Given the description of an element on the screen output the (x, y) to click on. 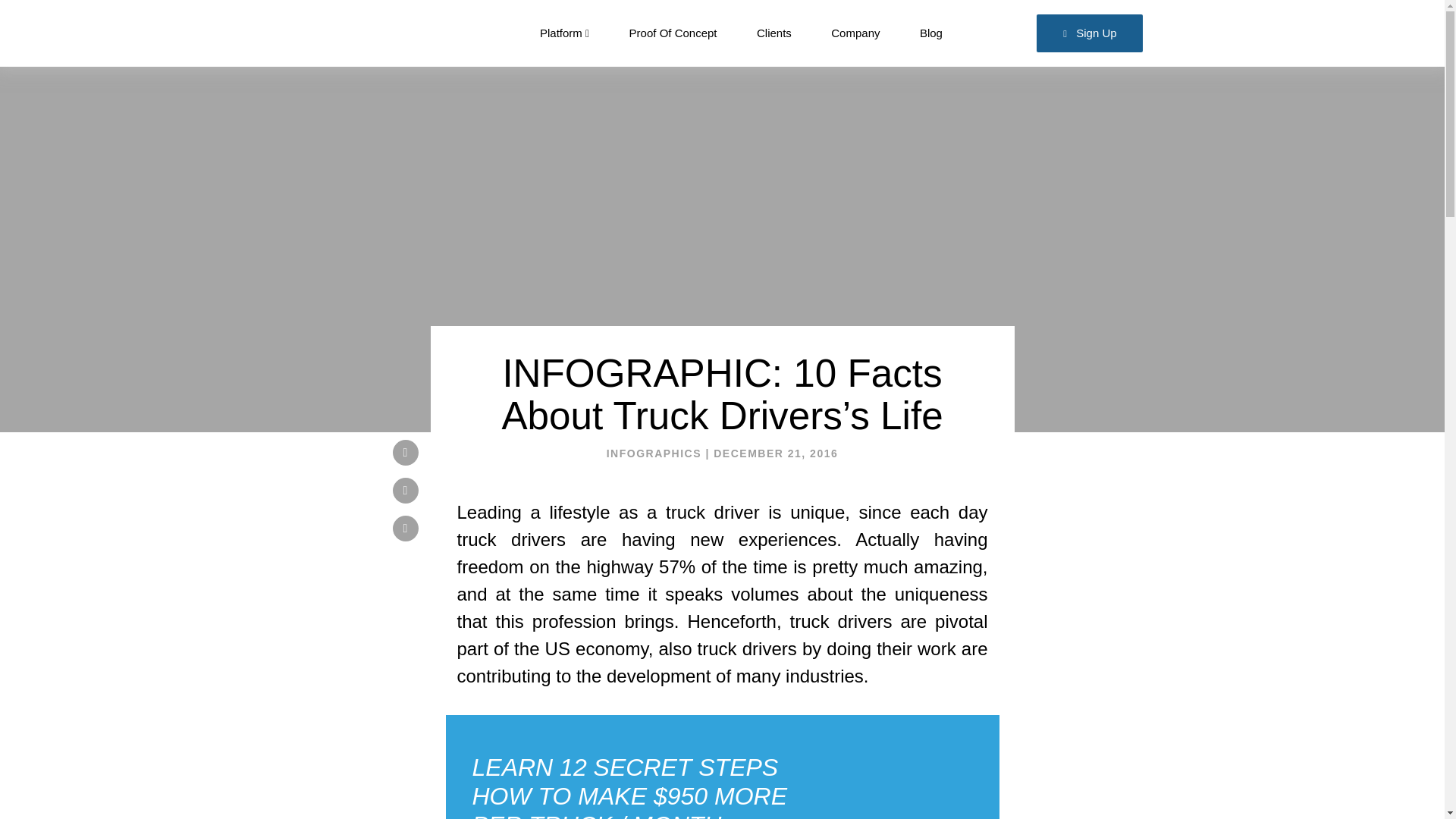
Company (855, 33)
Share on Facebook (406, 490)
Platform (564, 33)
Share on Twitter (406, 452)
Proof Of Concept (673, 33)
Sign Up (1089, 33)
Share on Linkedin (406, 528)
Clients (773, 33)
Sign Up (1089, 33)
INFOGRAPHICS (654, 453)
